Given the description of an element on the screen output the (x, y) to click on. 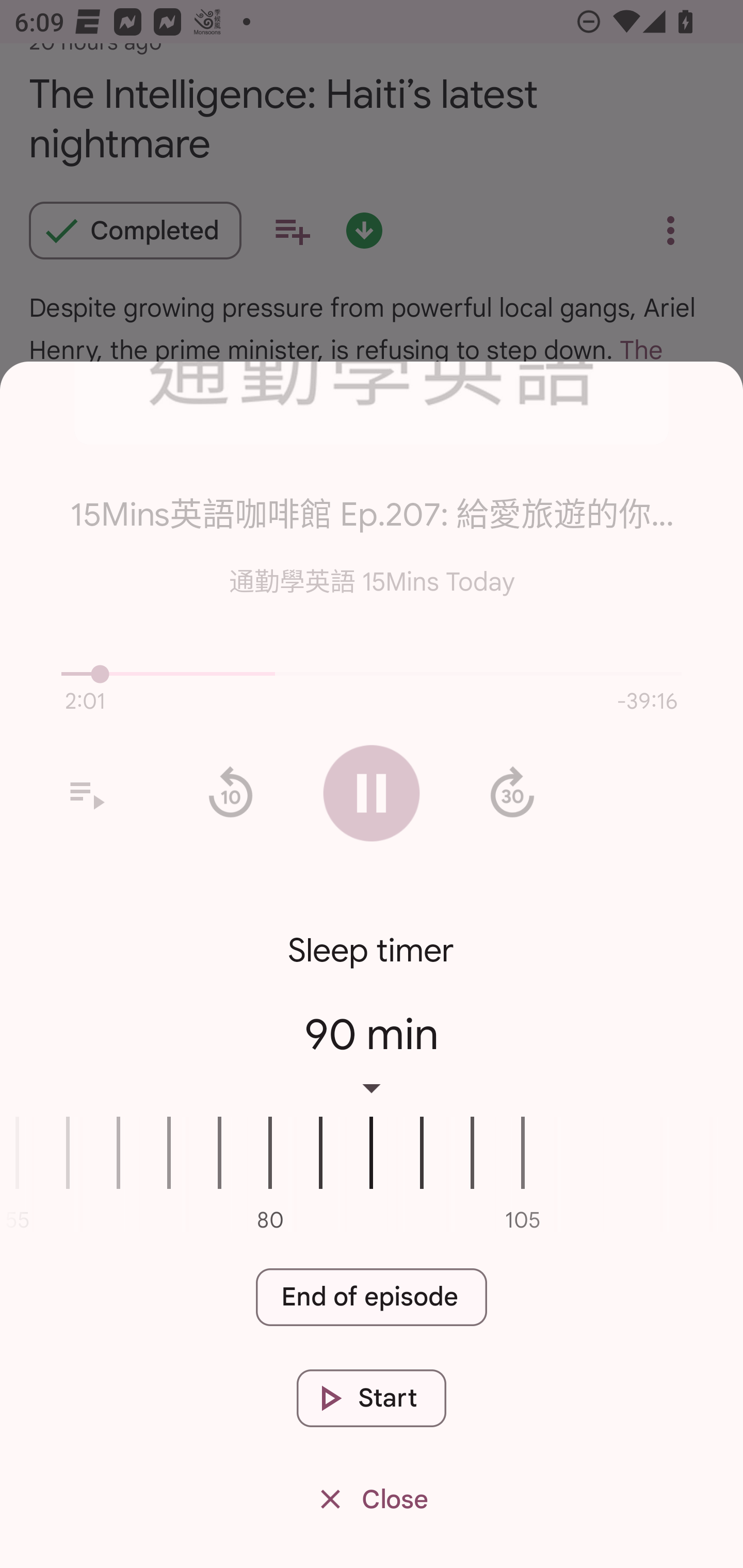
490.0 Current episode playback (371, 674)
Pause (371, 793)
View your queue (86, 793)
Rewind 10 seconds (230, 793)
Fast forward 30 second (511, 793)
End of episode (371, 1297)
Start (371, 1397)
Close (371, 1499)
